Given the description of an element on the screen output the (x, y) to click on. 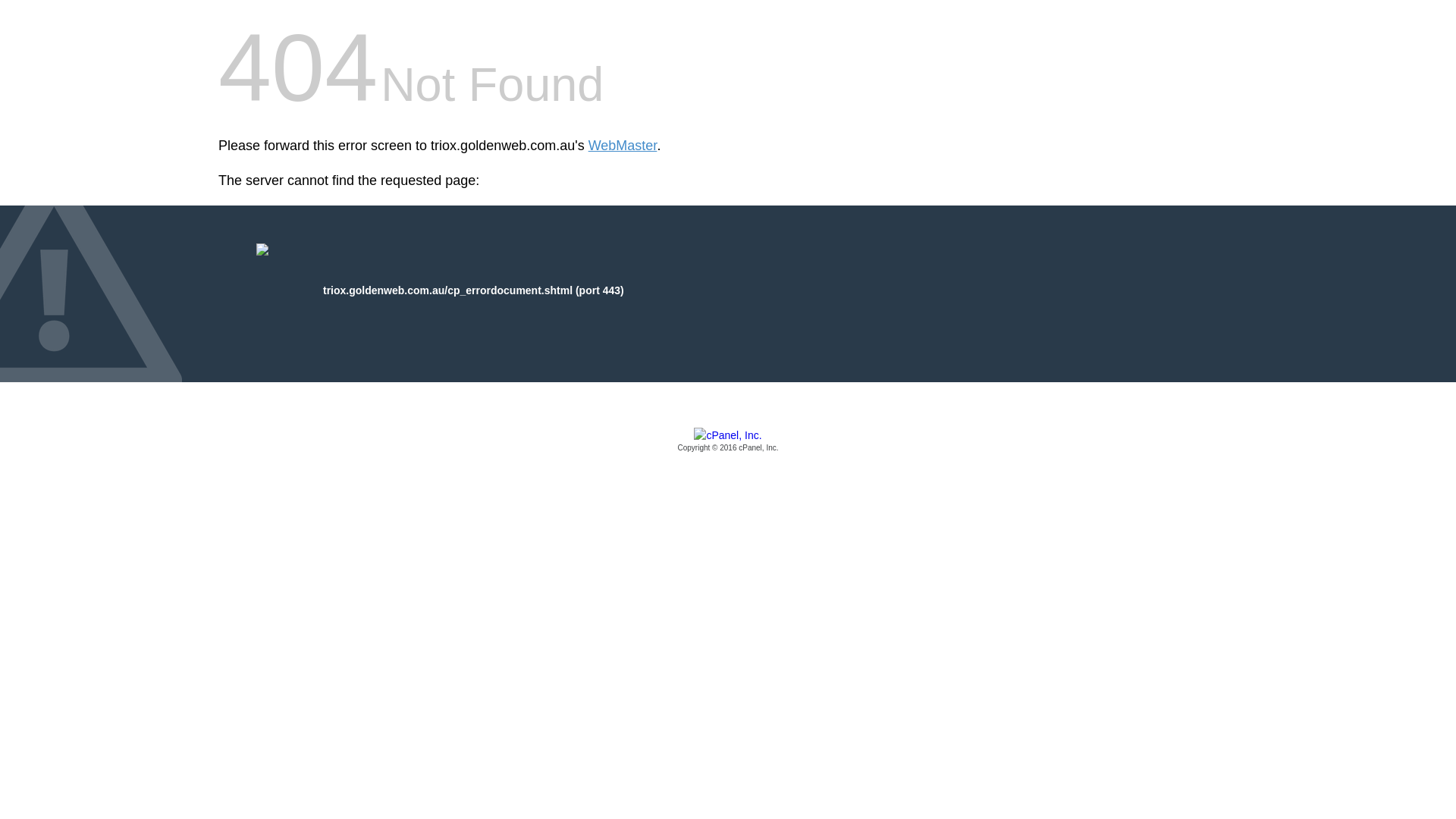
WebMaster Element type: text (622, 145)
